Given the description of an element on the screen output the (x, y) to click on. 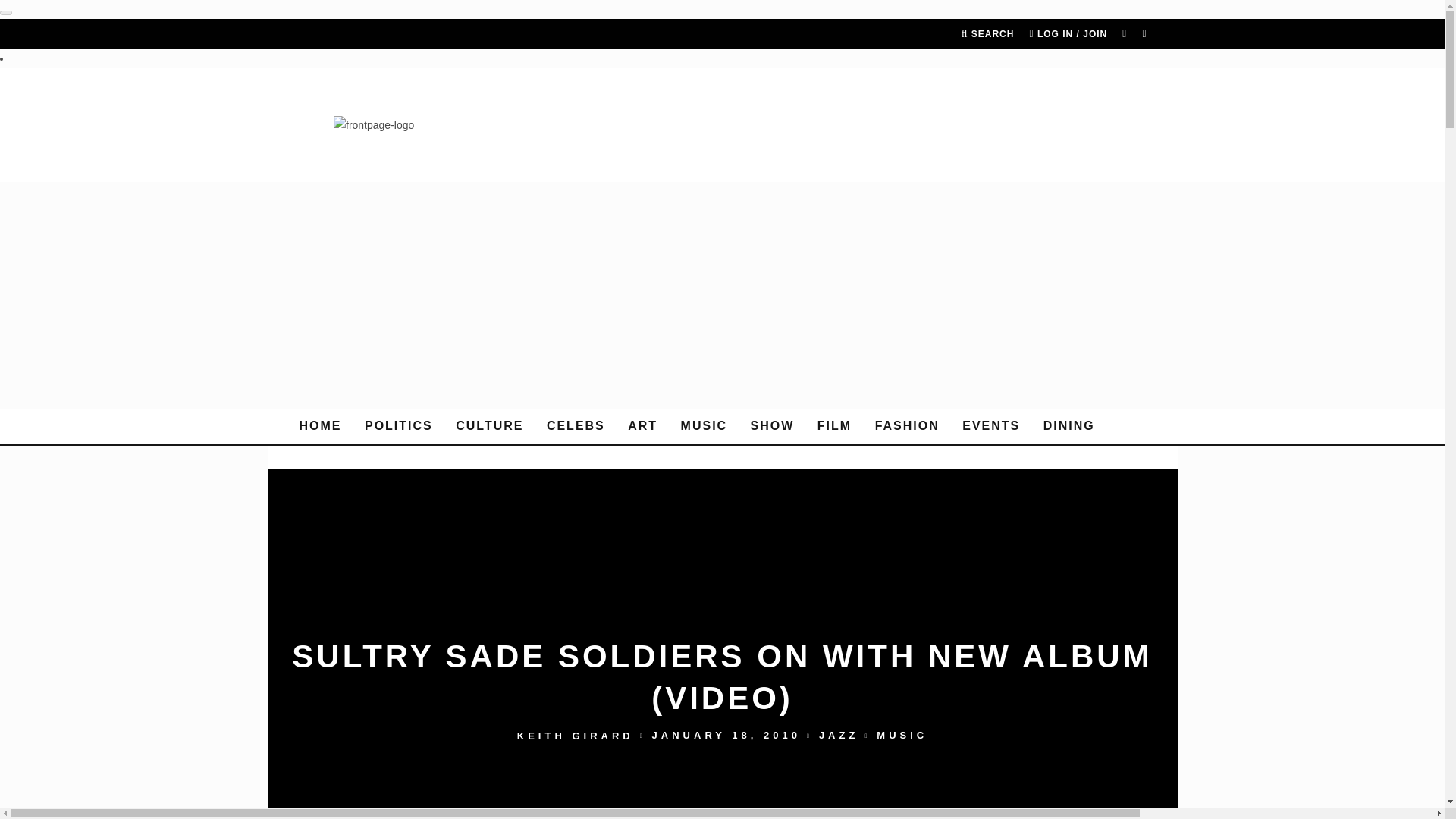
SEARCH (987, 33)
View all posts in JAZZ (838, 736)
View all posts in Music (901, 736)
Search (987, 33)
